Given the description of an element on the screen output the (x, y) to click on. 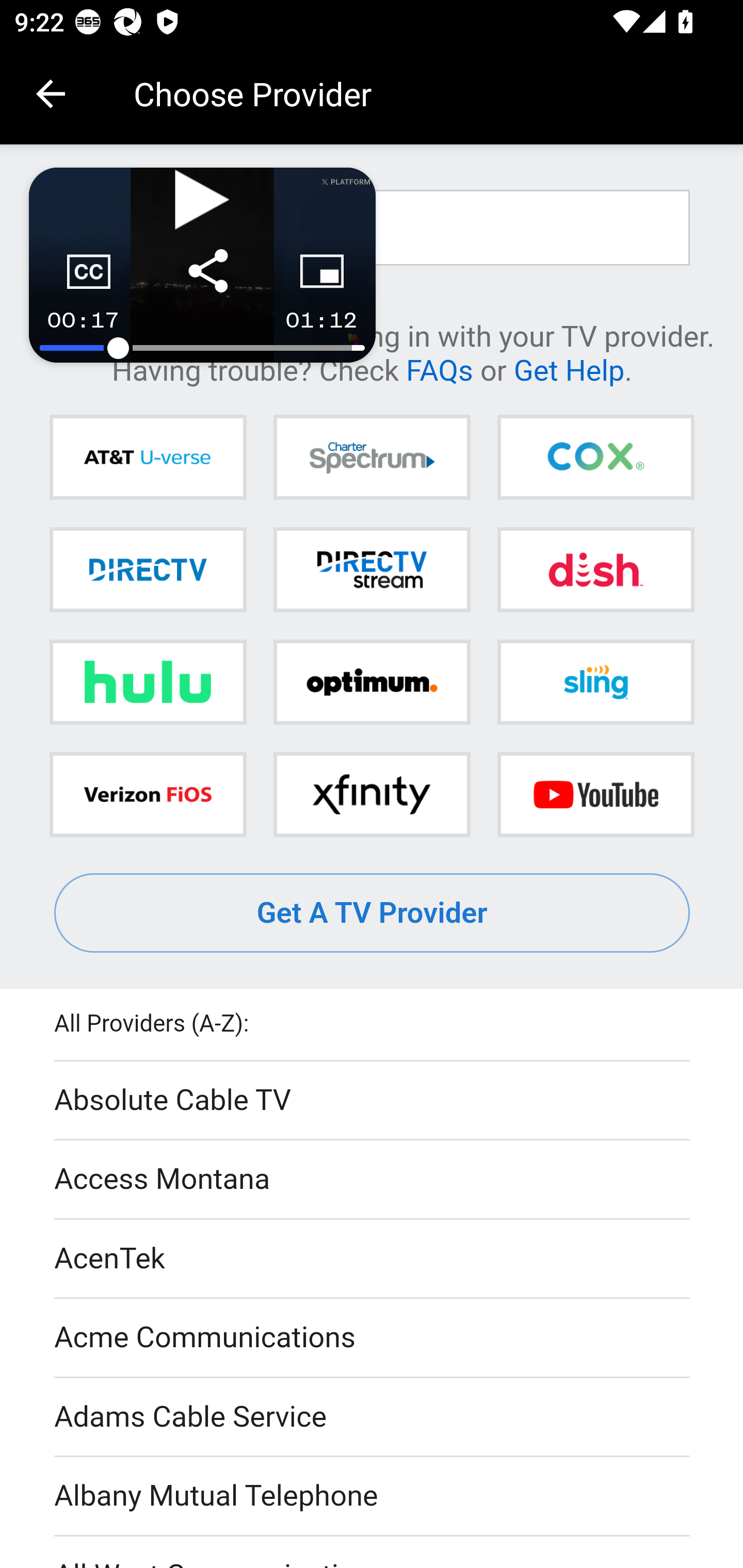
Navigate up (50, 93)
FAQs (438, 369)
Get Help (569, 369)
AT&T U-verse (147, 457)
Charter Spectrum (371, 457)
Cox (595, 457)
DIRECTV (147, 568)
DIRECTV STREAM (371, 568)
DISH (595, 568)
Hulu (147, 681)
Optimum (371, 681)
Sling TV (595, 681)
Verizon FiOS (147, 793)
Xfinity (371, 793)
YouTube TV (595, 793)
Get A TV Provider (372, 912)
Absolute Cable TV (372, 1100)
Access Montana (372, 1178)
AcenTek (372, 1258)
Acme Communications (372, 1338)
Adams Cable Service (372, 1417)
Albany Mutual Telephone (372, 1497)
